Given the description of an element on the screen output the (x, y) to click on. 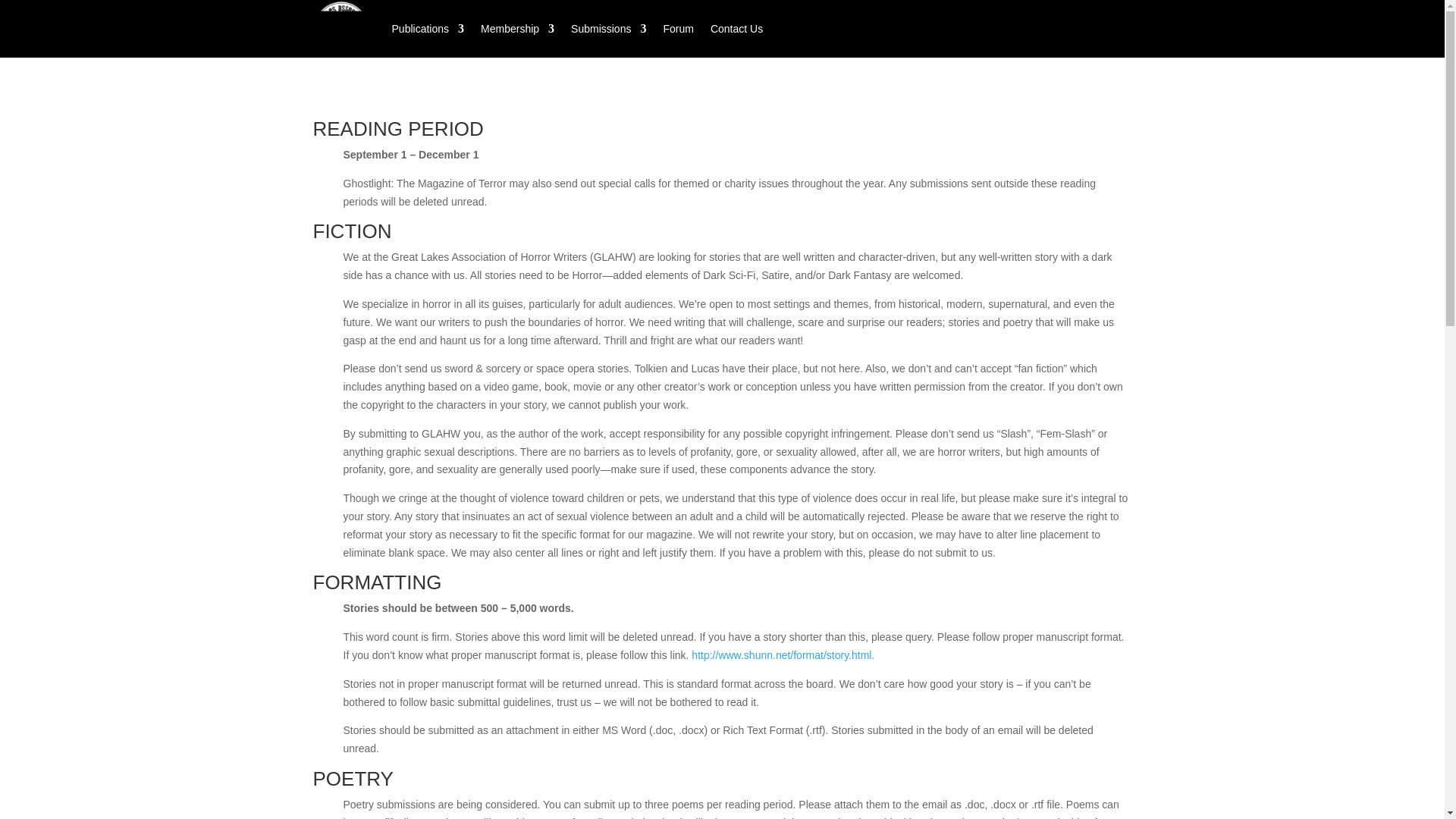
Membership (517, 28)
Publications (427, 28)
Contact Us (736, 28)
Submissions (608, 28)
